Given the description of an element on the screen output the (x, y) to click on. 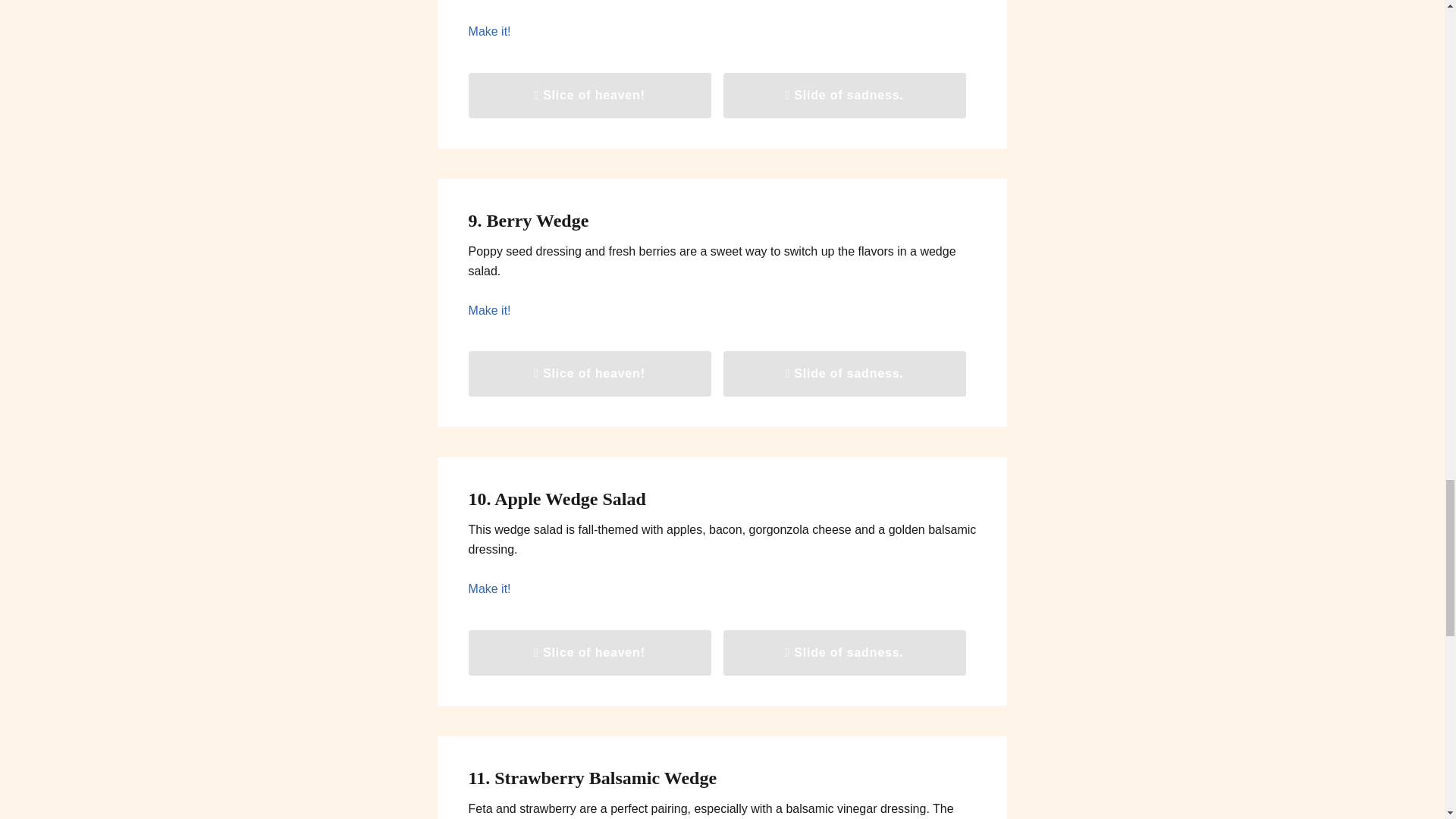
Slide of sadness. (844, 94)
Make it! (489, 588)
Make it! (489, 309)
Make it! (489, 31)
Slice of heaven! (589, 373)
Slice of heaven! (589, 94)
Slide of sadness. (844, 373)
